Given the description of an element on the screen output the (x, y) to click on. 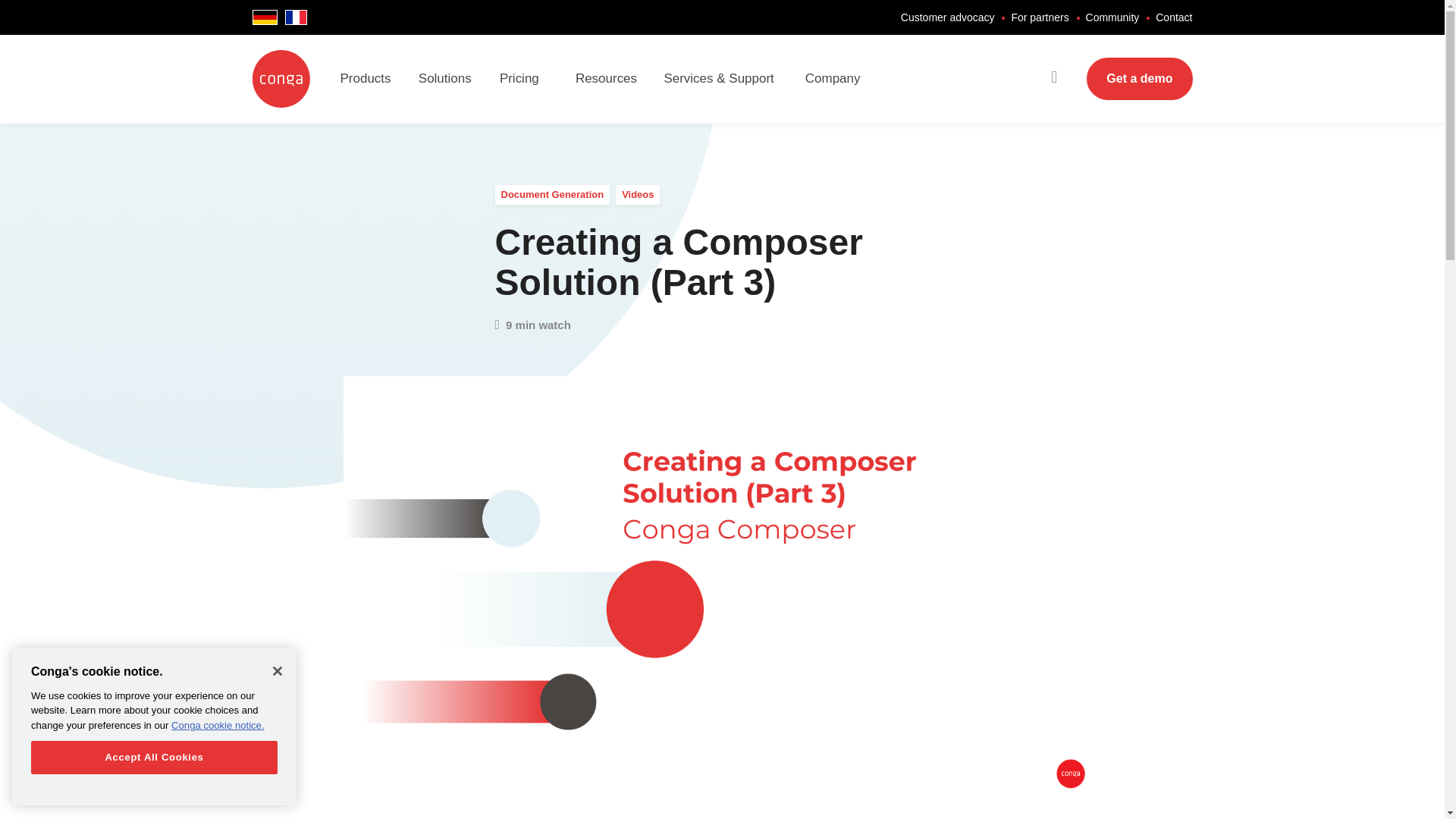
Deutsch (263, 17)
For partners (1039, 17)
Learn more about Conga's pricing (537, 78)
Contact (1174, 17)
Community (1113, 17)
Customer advocacy (947, 17)
